Given the description of an element on the screen output the (x, y) to click on. 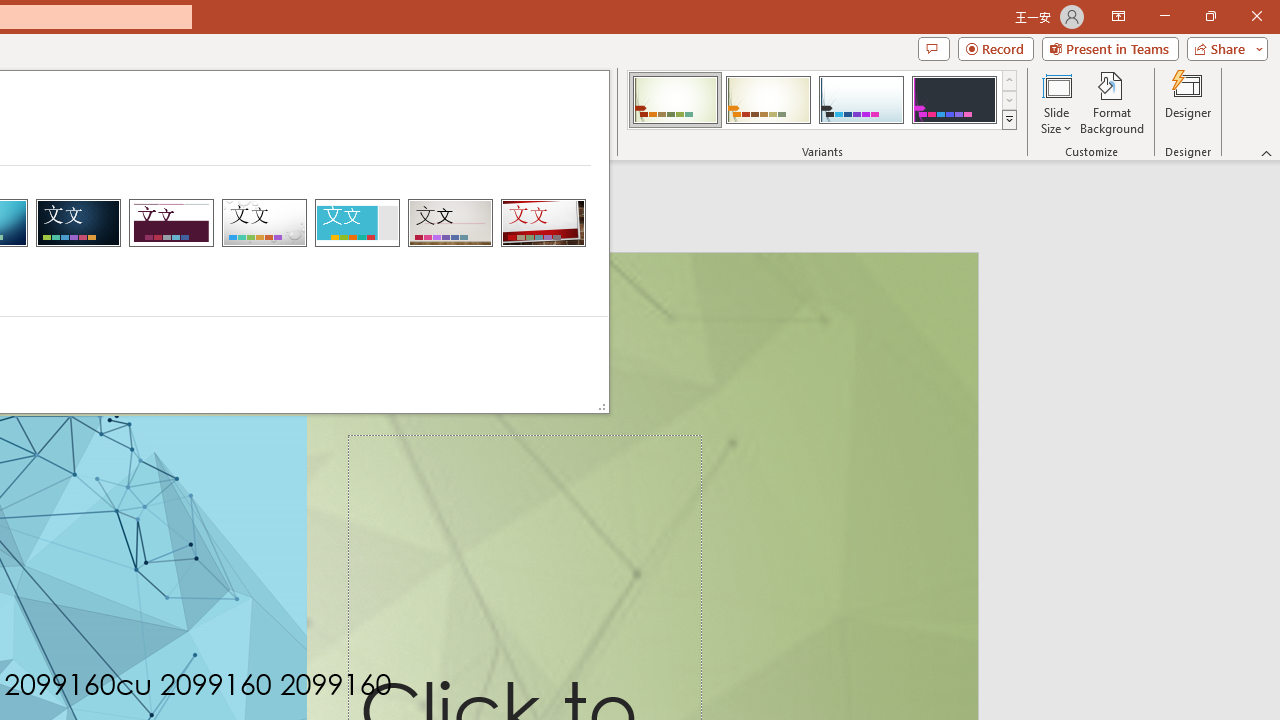
Designer (1188, 102)
Class: NetUIImage (1009, 119)
Wisp Variant 2 (768, 100)
Row up (1009, 79)
Wisp Variant 1 (674, 100)
Wisp Variant 4 (953, 100)
Slide Size (1056, 102)
AutomationID: ThemeVariantsGallery (822, 99)
Variants (1009, 120)
